Given the description of an element on the screen output the (x, y) to click on. 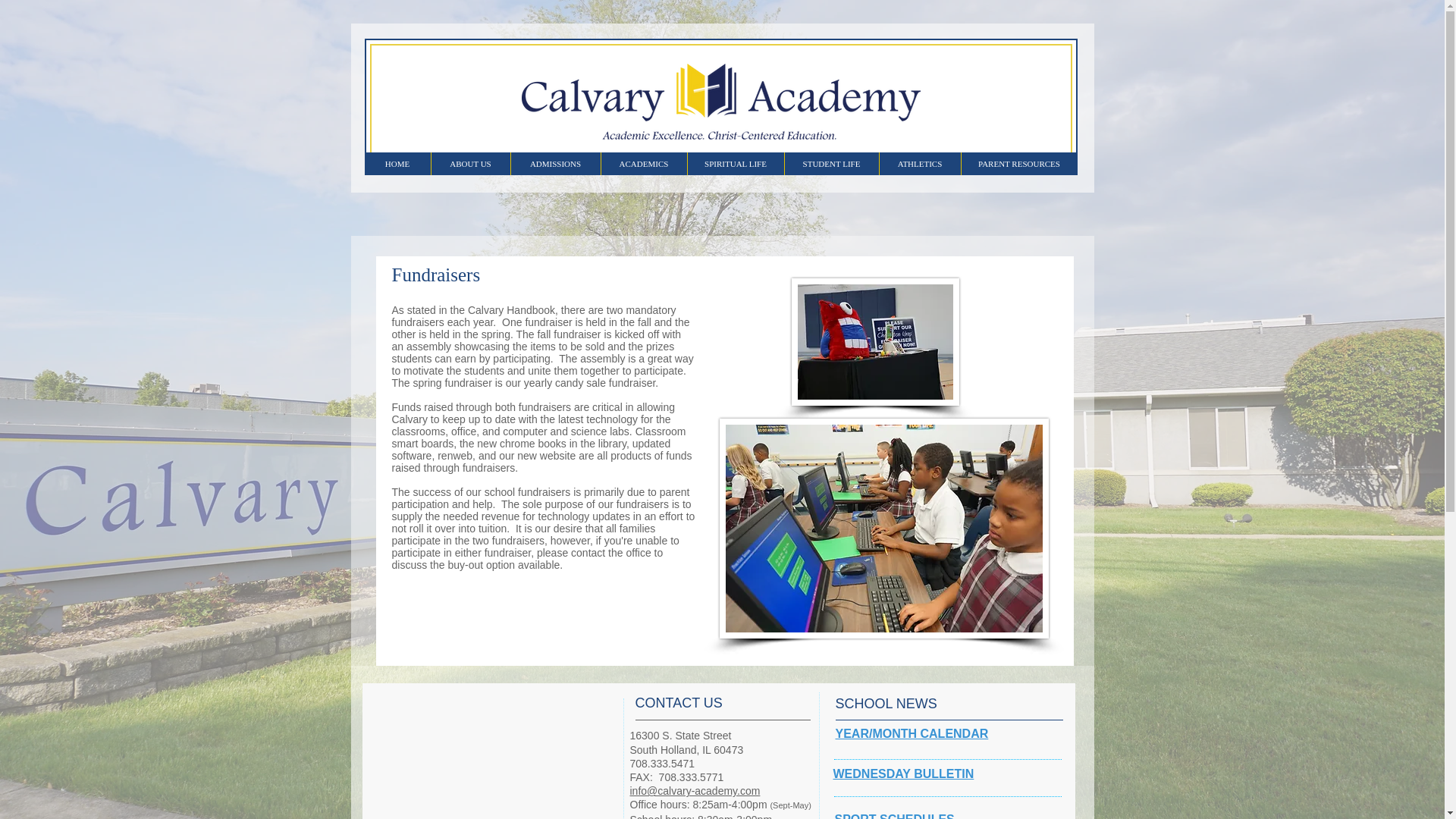
SPIRITUAL LIFE (735, 163)
STUDENT LIFE (831, 163)
ACADEMICS (643, 163)
HOME (396, 163)
ATHLETICS (918, 163)
ABOUT US (470, 163)
Calvary Academy Logo.png (720, 101)
ADMISSIONS (554, 163)
